Given the description of an element on the screen output the (x, y) to click on. 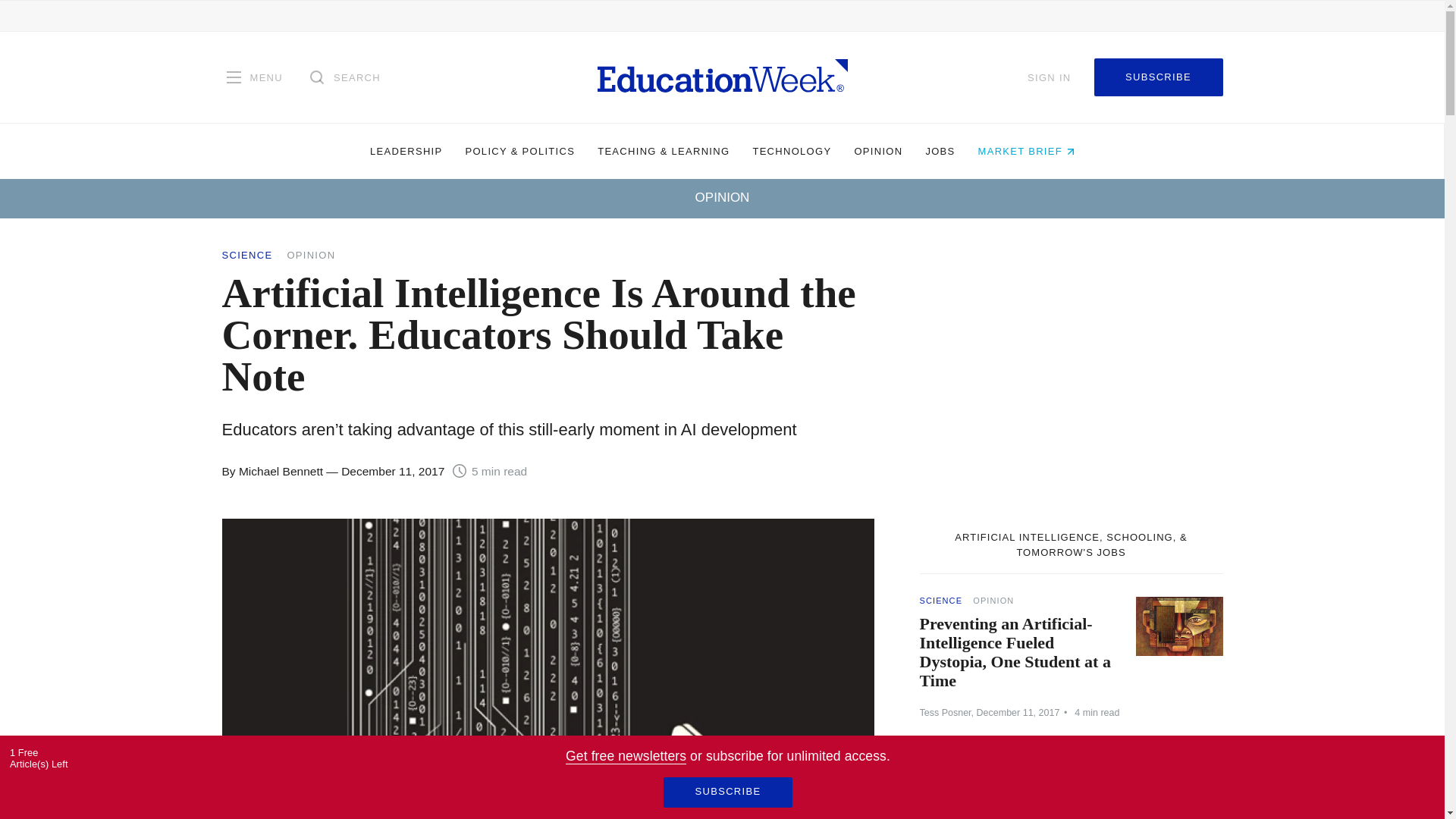
Homepage (721, 76)
